Given the description of an element on the screen output the (x, y) to click on. 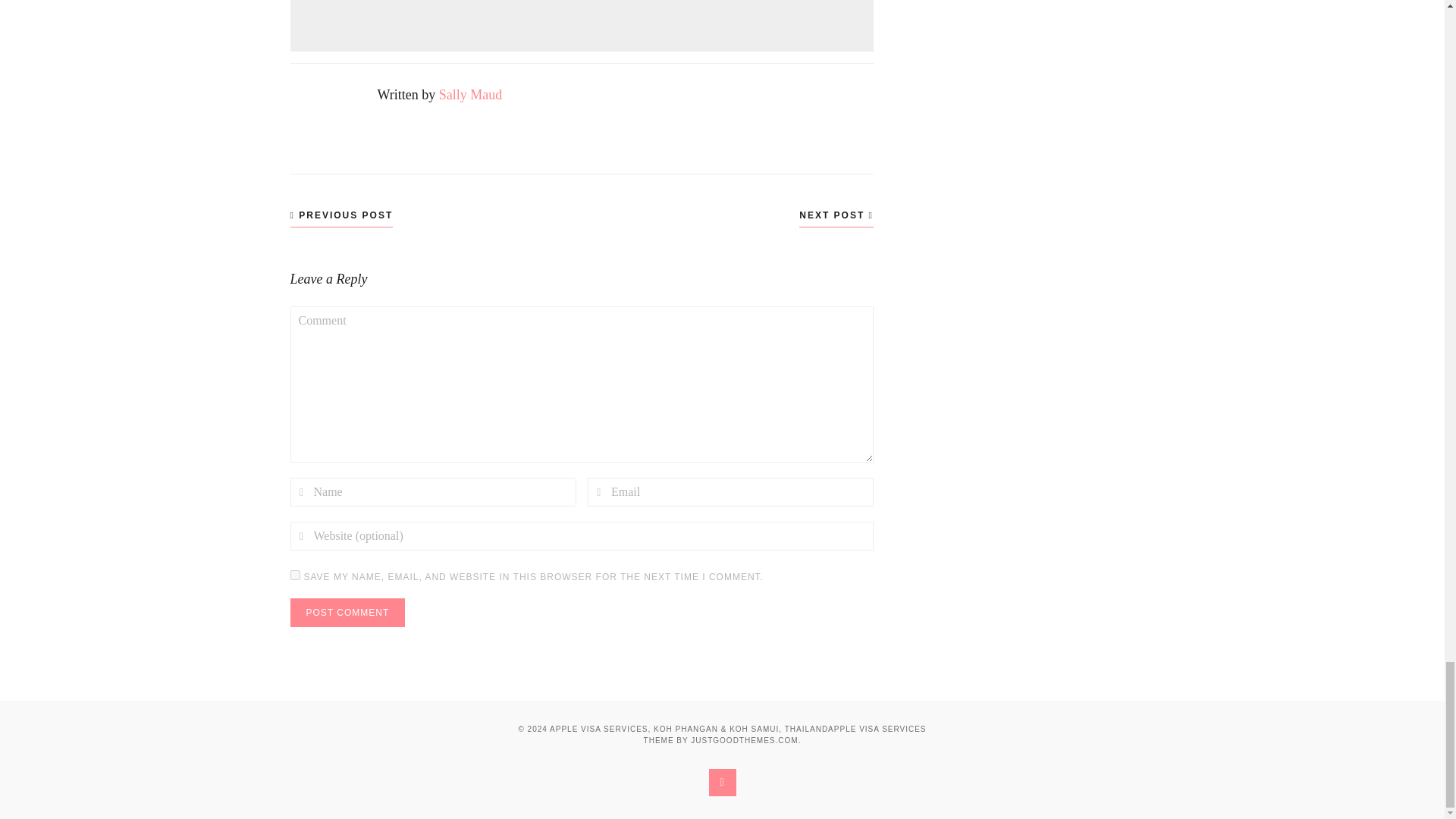
Post Comment (346, 612)
yes (294, 574)
